Given the description of an element on the screen output the (x, y) to click on. 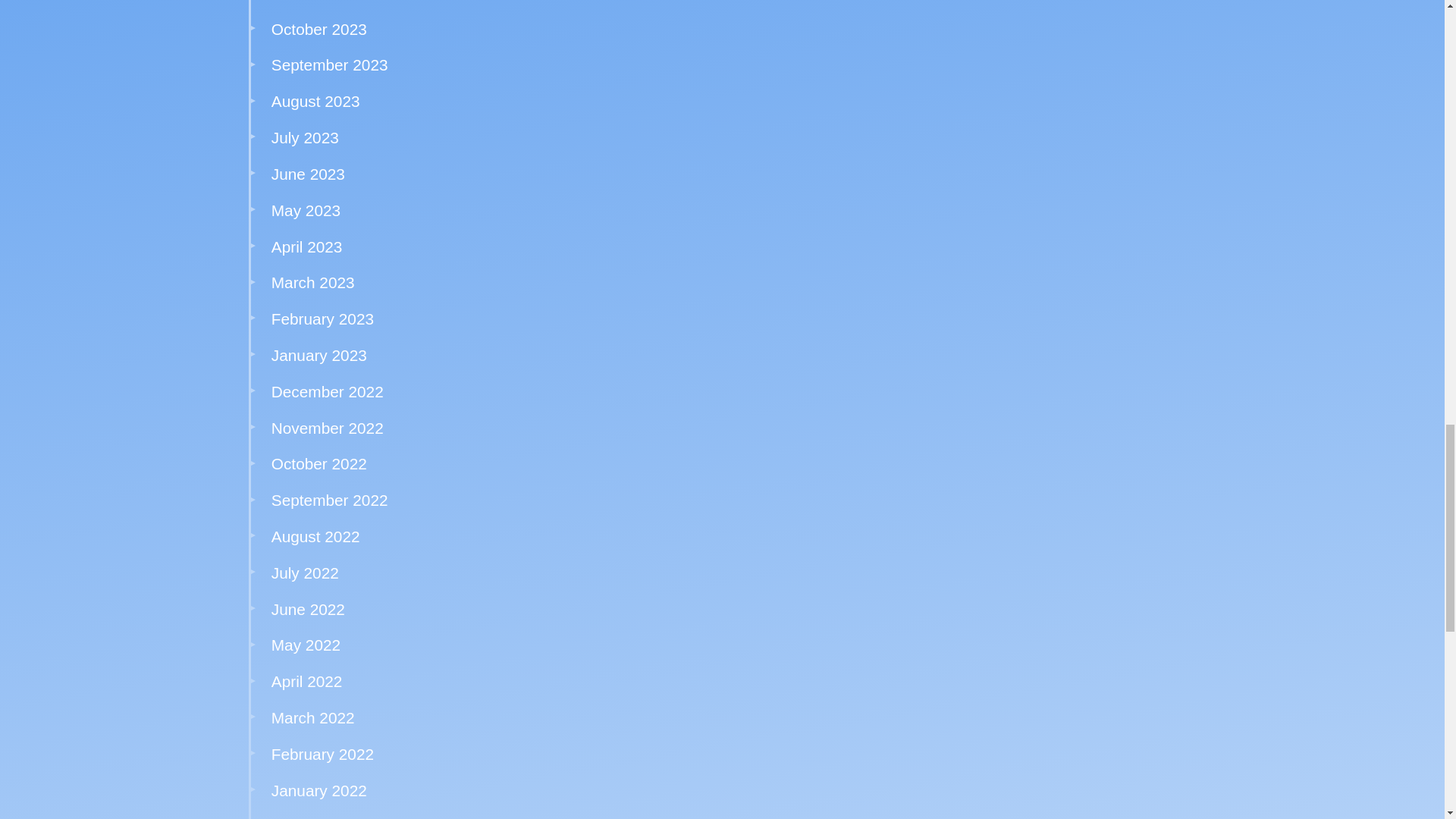
April 2022 (306, 681)
September 2023 (329, 64)
May 2023 (305, 210)
October 2023 (318, 28)
February 2023 (322, 318)
December 2022 (327, 391)
March 2023 (312, 282)
August 2023 (314, 100)
June 2022 (307, 609)
April 2023 (306, 246)
September 2022 (329, 499)
July 2022 (304, 572)
October 2022 (318, 463)
November 2023 (327, 0)
July 2023 (304, 137)
